Given the description of an element on the screen output the (x, y) to click on. 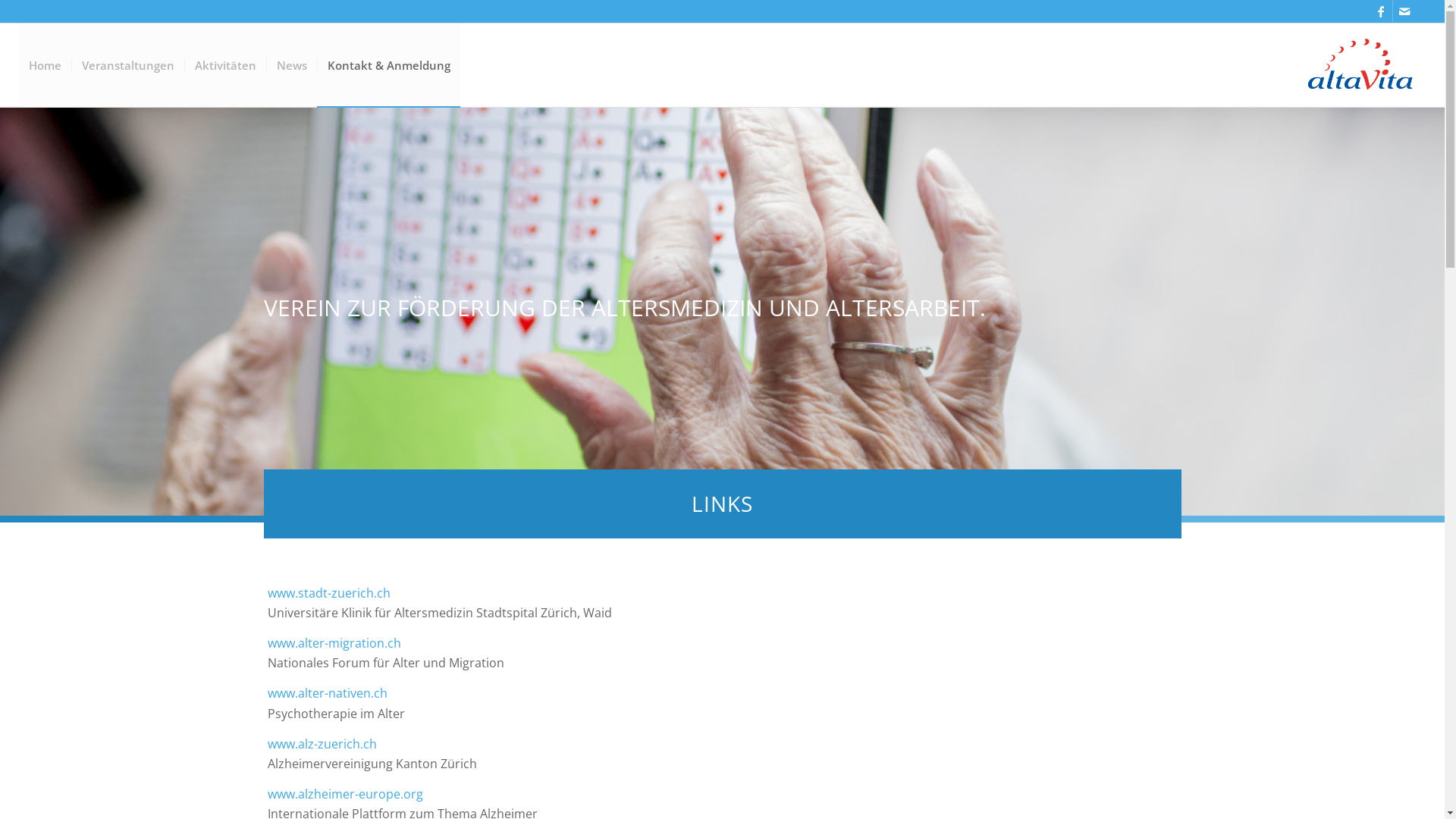
www.alter-migration.ch Element type: text (333, 642)
Mail Element type: hover (1404, 11)
Facebook Element type: hover (1381, 11)
Kontakt & Anmeldung Element type: text (388, 64)
Logo altavita Element type: hover (1360, 64)
www.stadt-zuerich.ch Element type: text (327, 592)
News Element type: text (291, 64)
Home Element type: text (44, 64)
Veranstaltungen Element type: text (127, 64)
www.alzheimer-europe.org Element type: text (344, 793)
www.alter-nativen.ch Element type: text (326, 692)
www.alz-zuerich.ch Element type: text (321, 743)
